Given the description of an element on the screen output the (x, y) to click on. 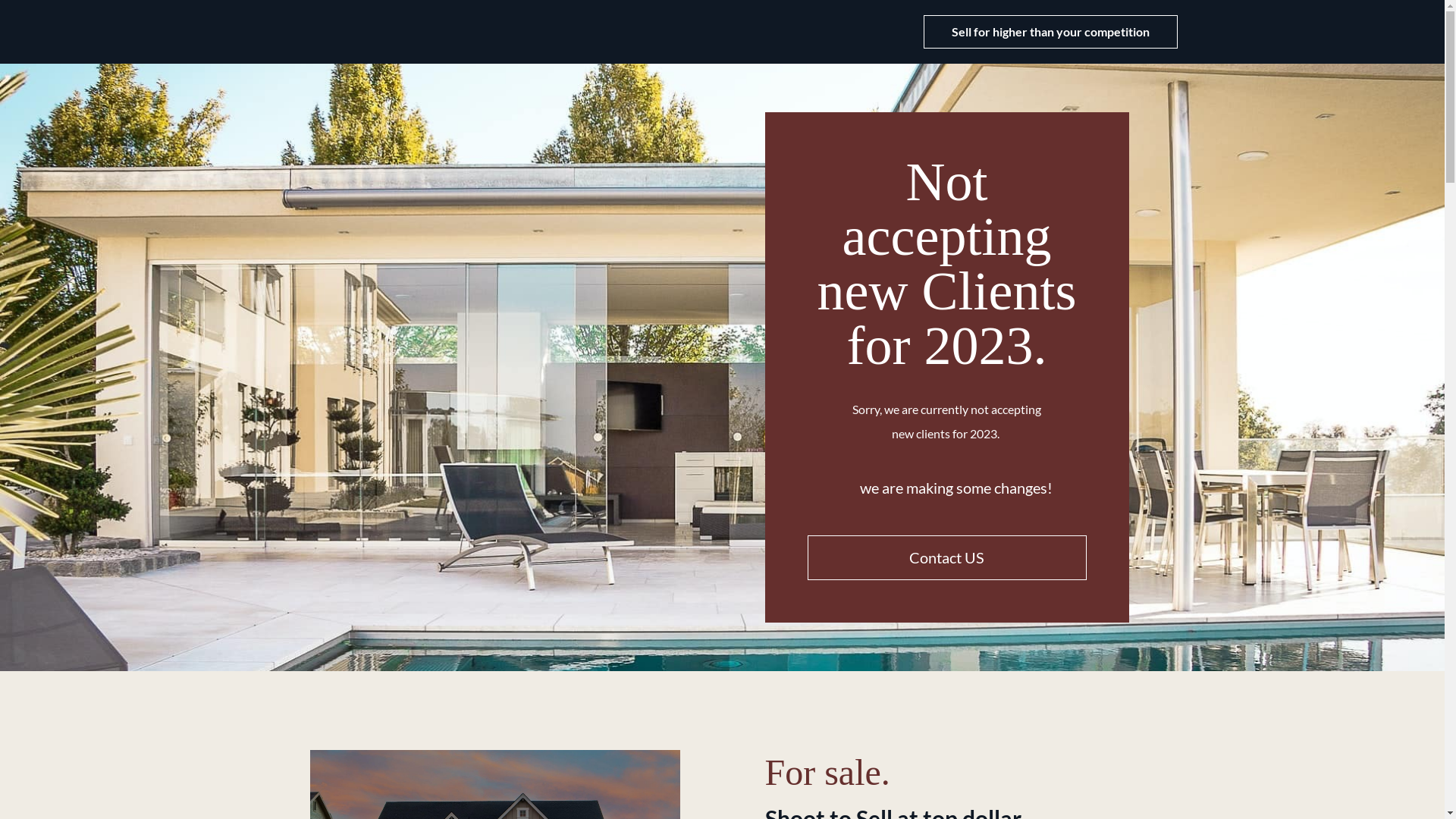
Sell for higher than your competition Element type: text (1050, 31)
Contact US Element type: text (945, 557)
